Given the description of an element on the screen output the (x, y) to click on. 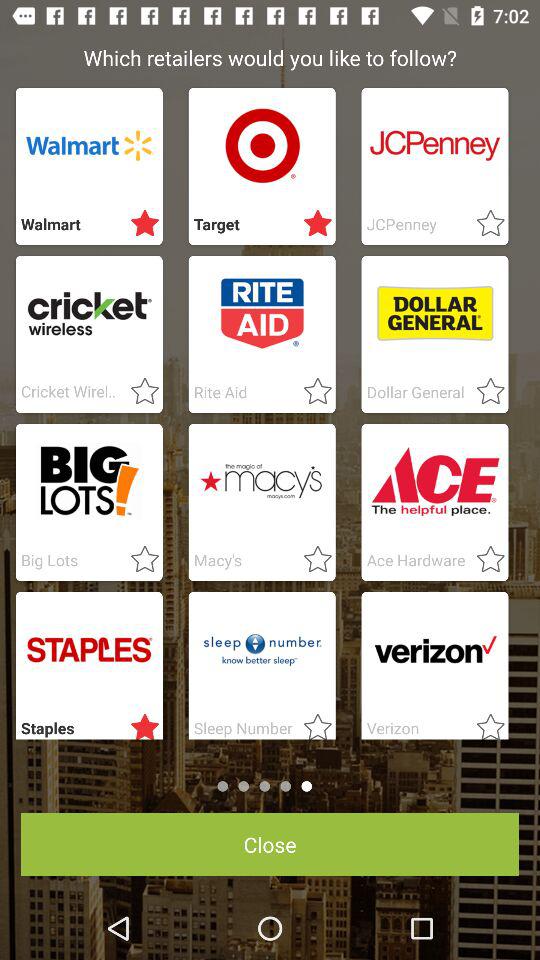
select jcpenney option (484, 224)
